Given the description of an element on the screen output the (x, y) to click on. 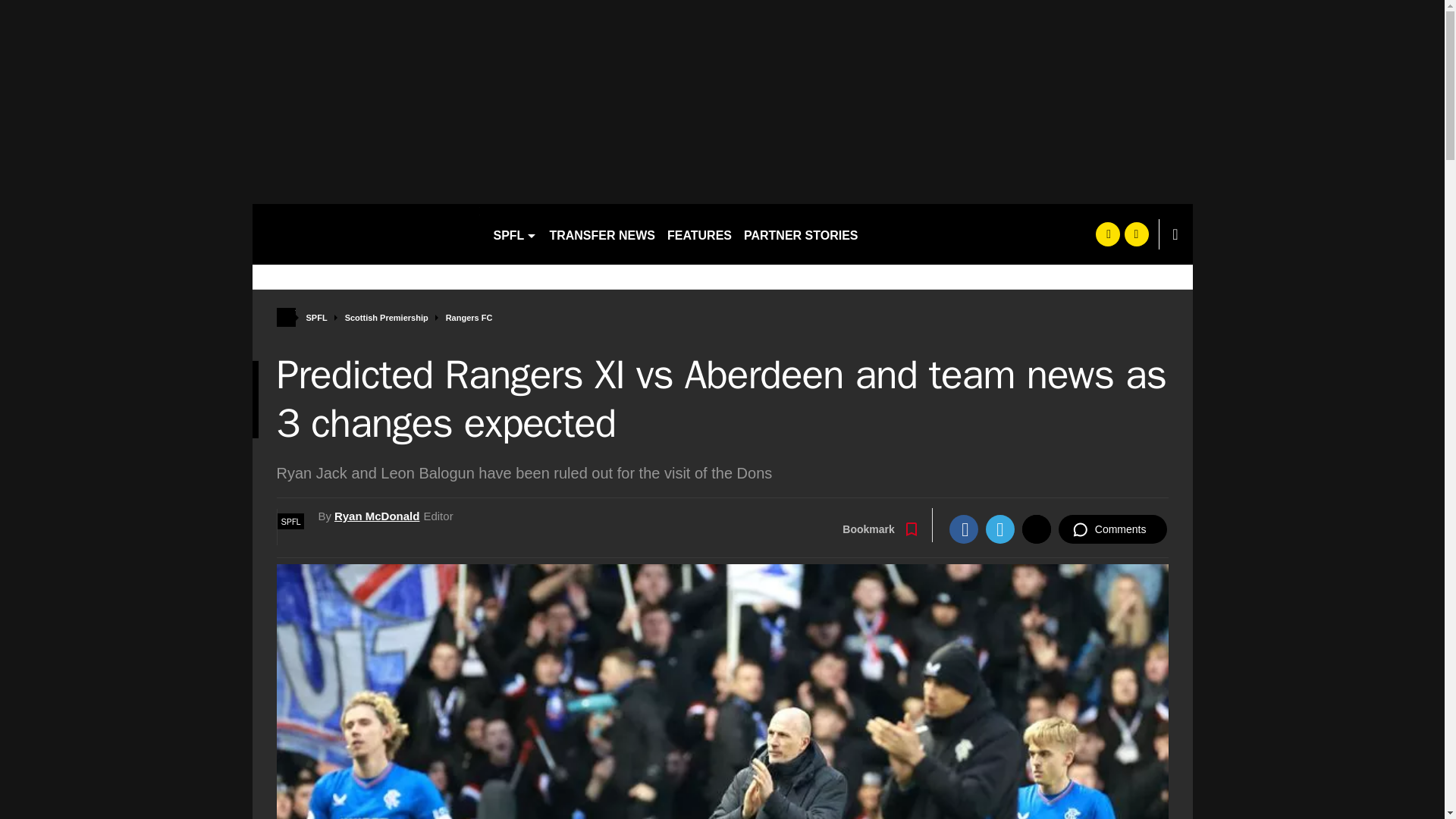
facebook (1106, 233)
Twitter (999, 529)
frontpage (285, 316)
Ryan McDonald (377, 515)
TRANSFER NEWS (602, 233)
Scottish Premiership (386, 317)
PARTNER STORIES (801, 233)
SPFL (291, 521)
FEATURES (699, 233)
footballscotland (365, 233)
Facebook (963, 529)
Comments (1112, 529)
Rangers FC (469, 317)
Comments (1112, 529)
twitter (1136, 233)
